Given the description of an element on the screen output the (x, y) to click on. 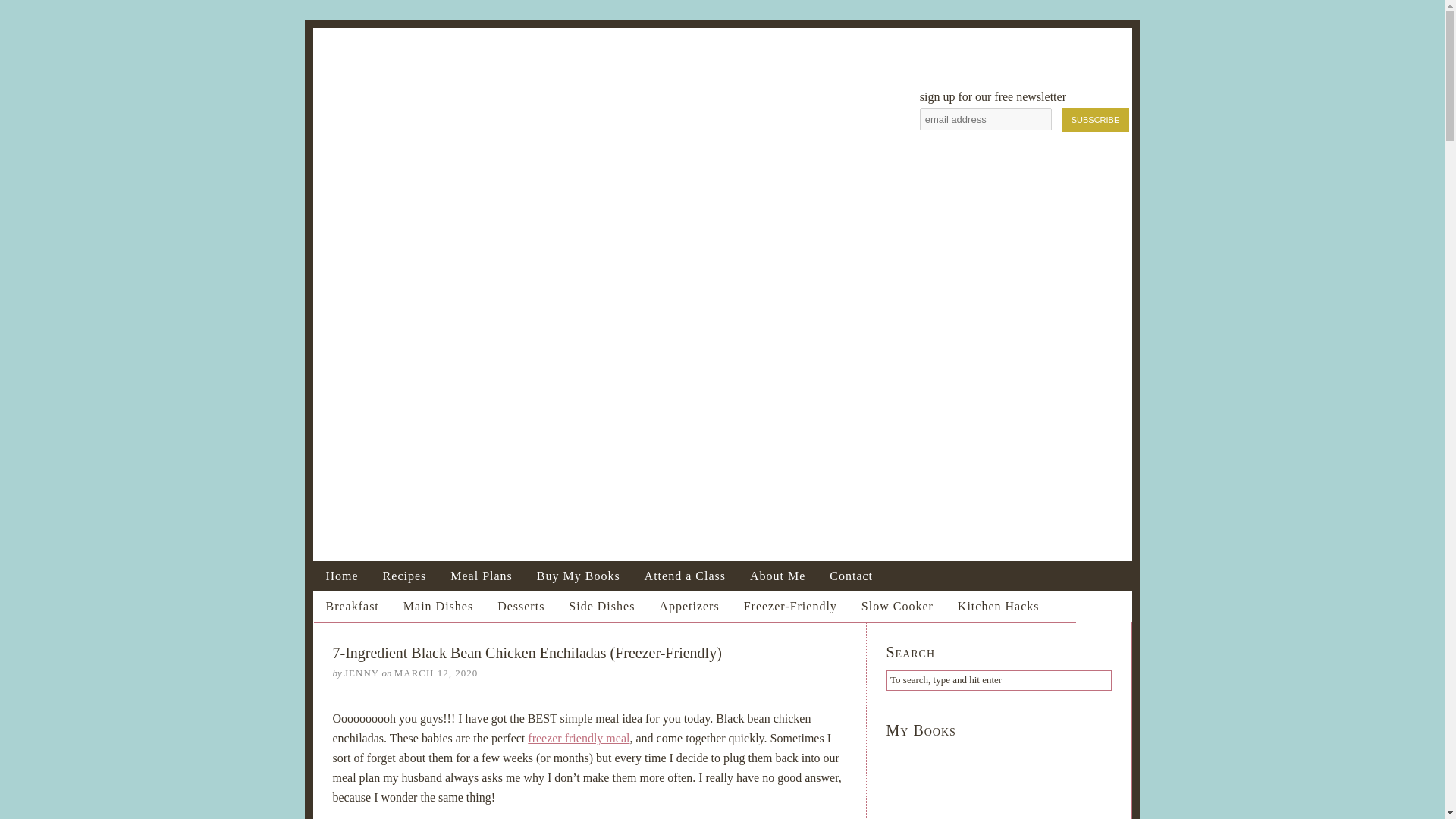
About Me (777, 576)
To search, type and hit enter (997, 680)
Kitchen Hacks (1009, 606)
Slow Cooker (908, 606)
Attend a Class (684, 576)
2020-03-12 (435, 672)
Recipes (405, 576)
Buy My Books (577, 576)
Main Dishes (450, 606)
Contact (850, 576)
freezer friendly meal (577, 738)
Freezer-Friendly (802, 606)
Subscribe (1095, 119)
Home (342, 576)
Breakfast (364, 606)
